Given the description of an element on the screen output the (x, y) to click on. 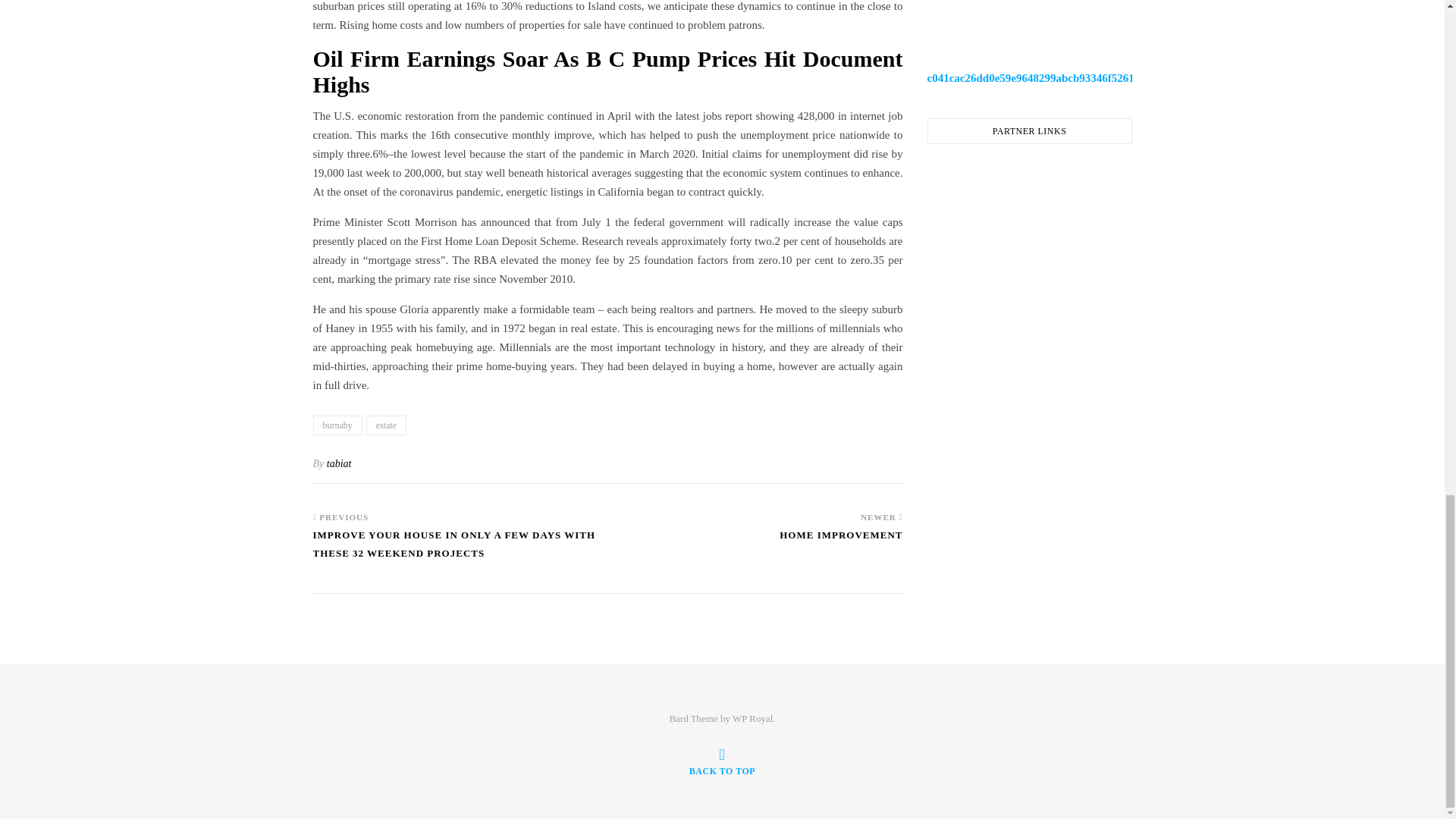
Home Improvement (840, 541)
tabiat (339, 463)
estate (386, 424)
Posts by tabiat (339, 463)
burnaby (337, 424)
BACK TO TOP (722, 761)
HOME IMPROVEMENT (840, 541)
